Given the description of an element on the screen output the (x, y) to click on. 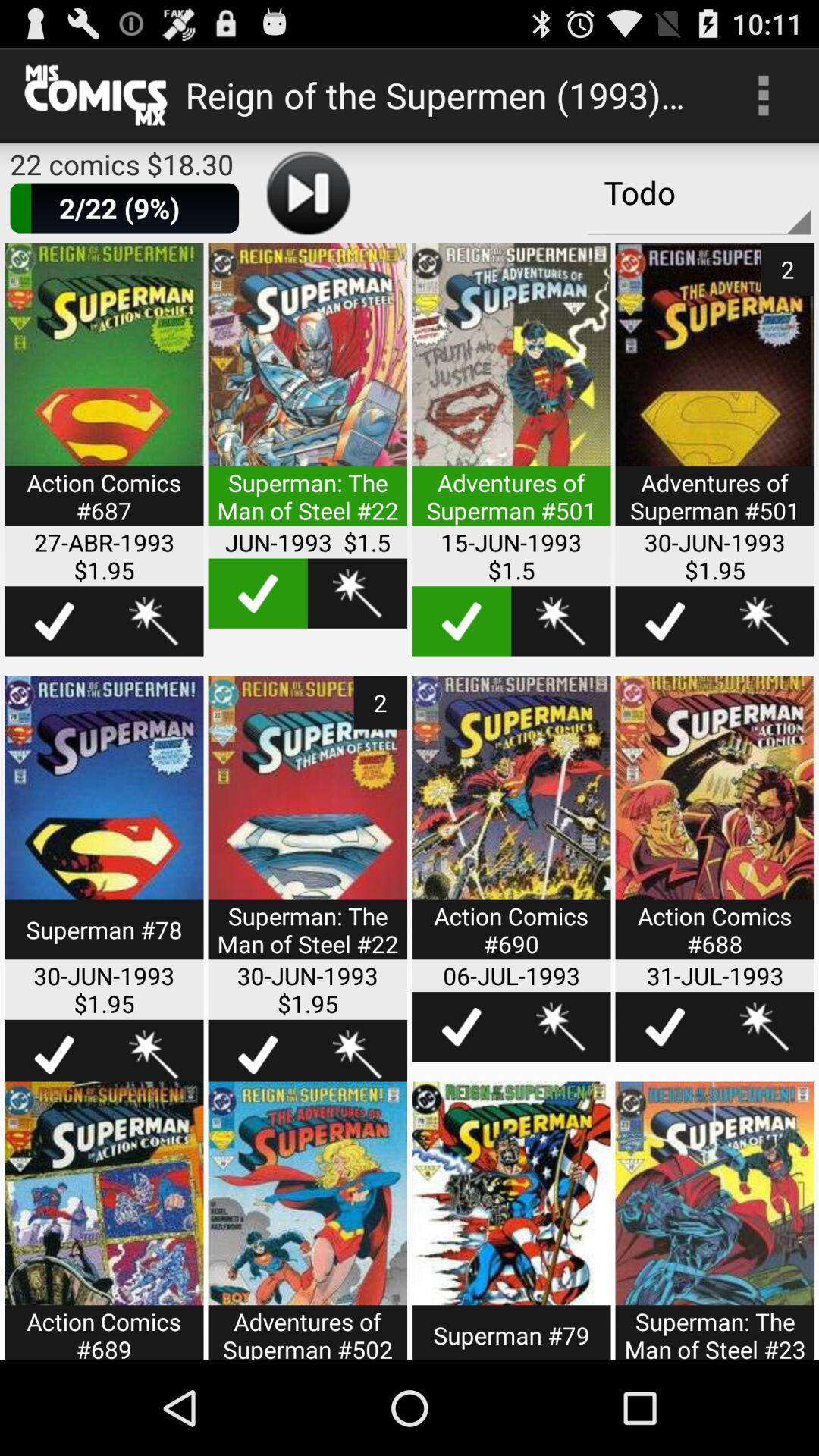
check the option (664, 1026)
